Given the description of an element on the screen output the (x, y) to click on. 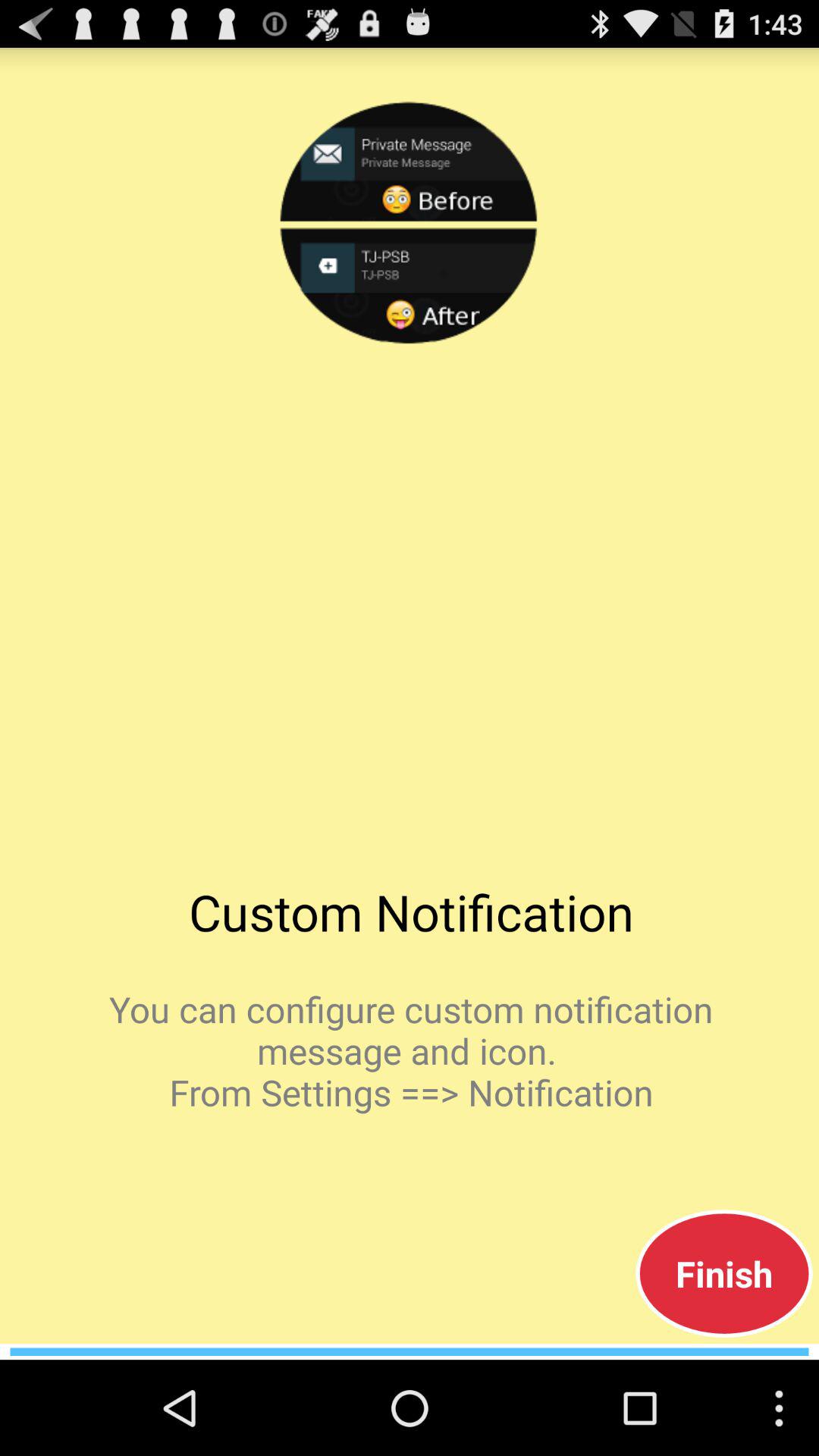
turn on app below the you can configure (723, 1273)
